Given the description of an element on the screen output the (x, y) to click on. 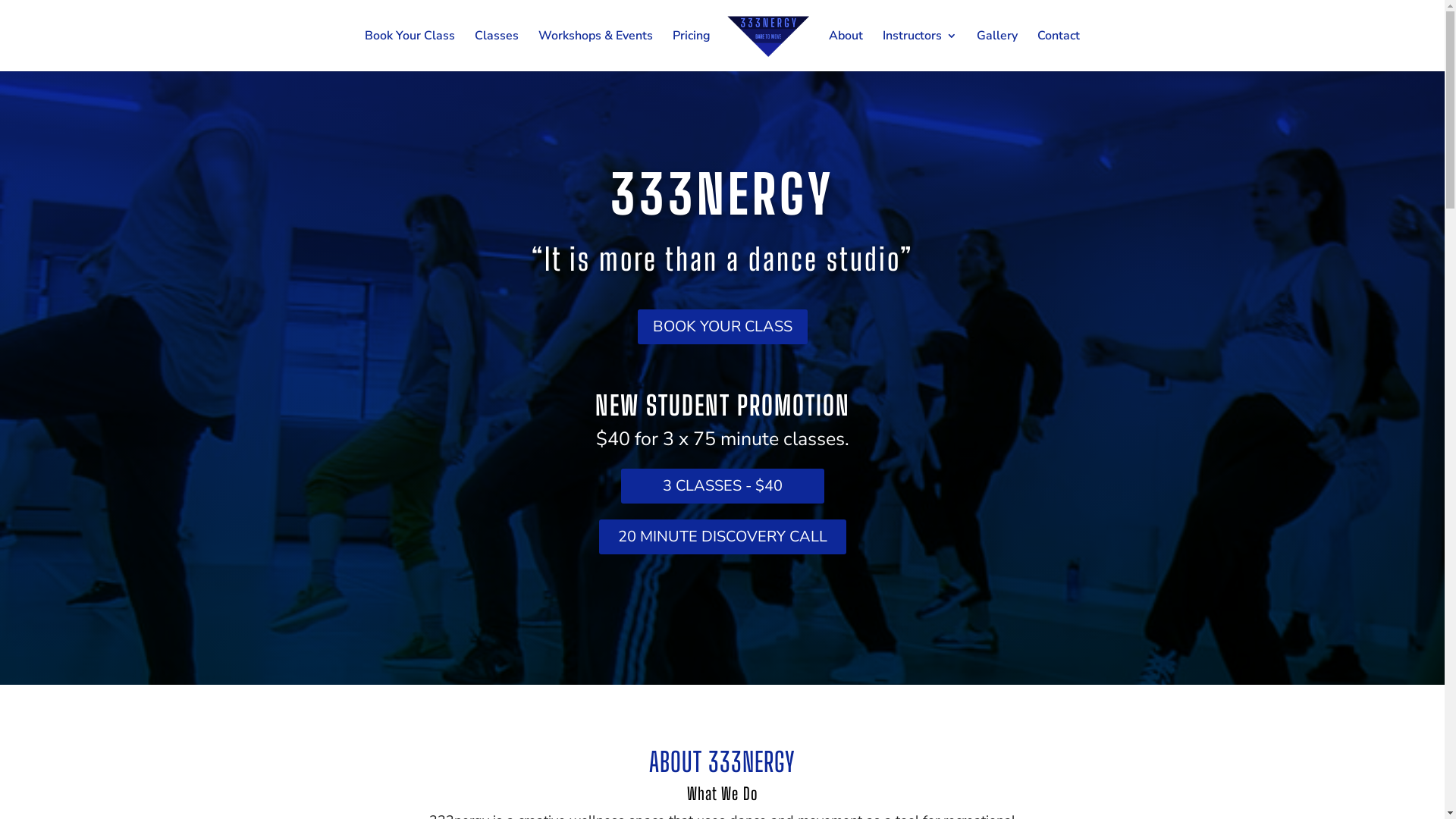
3 CLASSES - $40 Element type: text (721, 485)
Book Your Class Element type: text (409, 50)
About Element type: text (845, 50)
Instructors Element type: text (919, 50)
Classes Element type: text (496, 50)
Contact Element type: text (1058, 50)
20 MINUTE DISCOVERY CALL Element type: text (722, 536)
Gallery Element type: text (996, 50)
Pricing Element type: text (691, 50)
BOOK YOUR CLASS Element type: text (721, 326)
Workshops & Events Element type: text (595, 50)
